Given the description of an element on the screen output the (x, y) to click on. 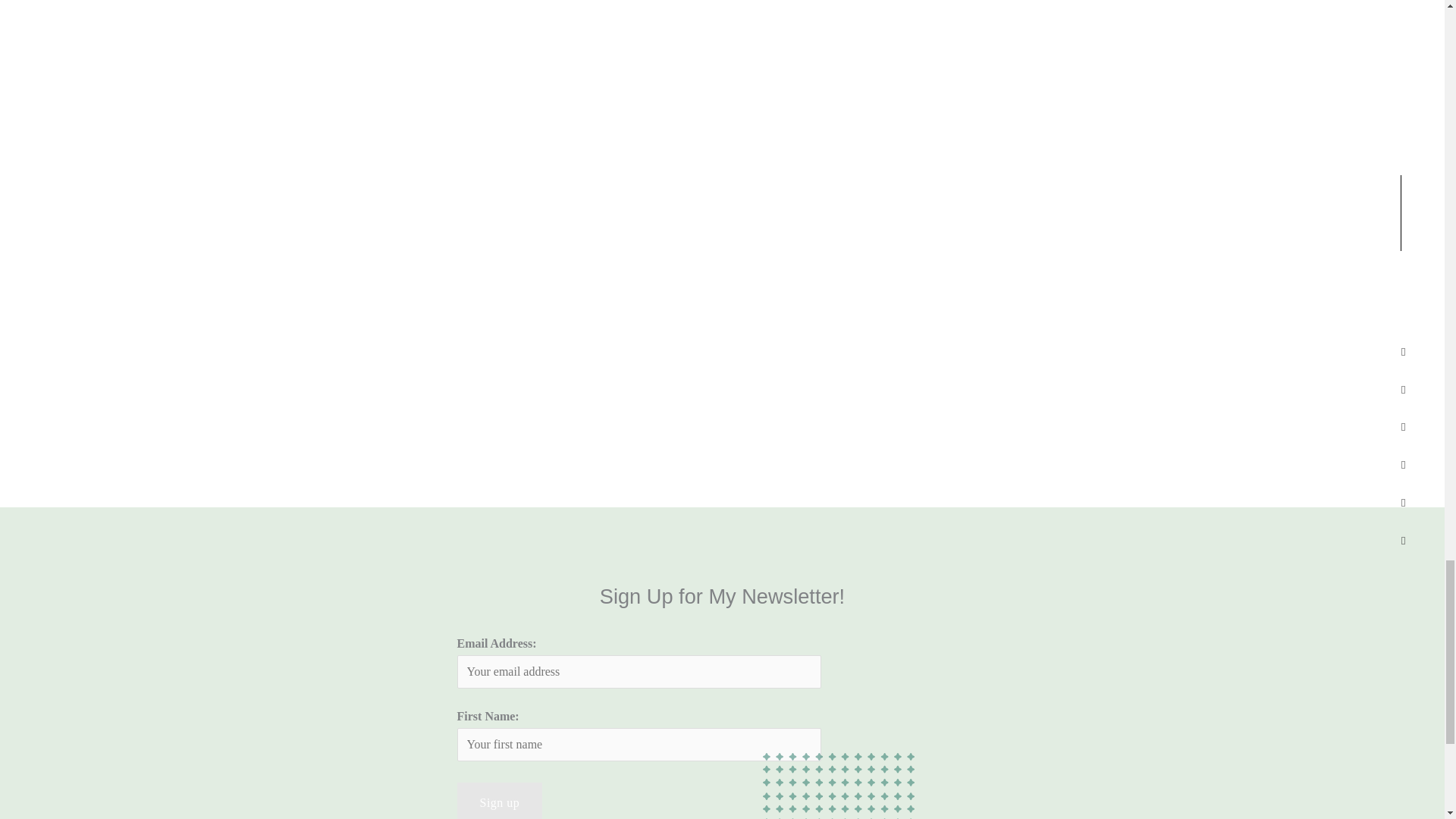
Sign up (499, 800)
Sign up (499, 800)
